Given the description of an element on the screen output the (x, y) to click on. 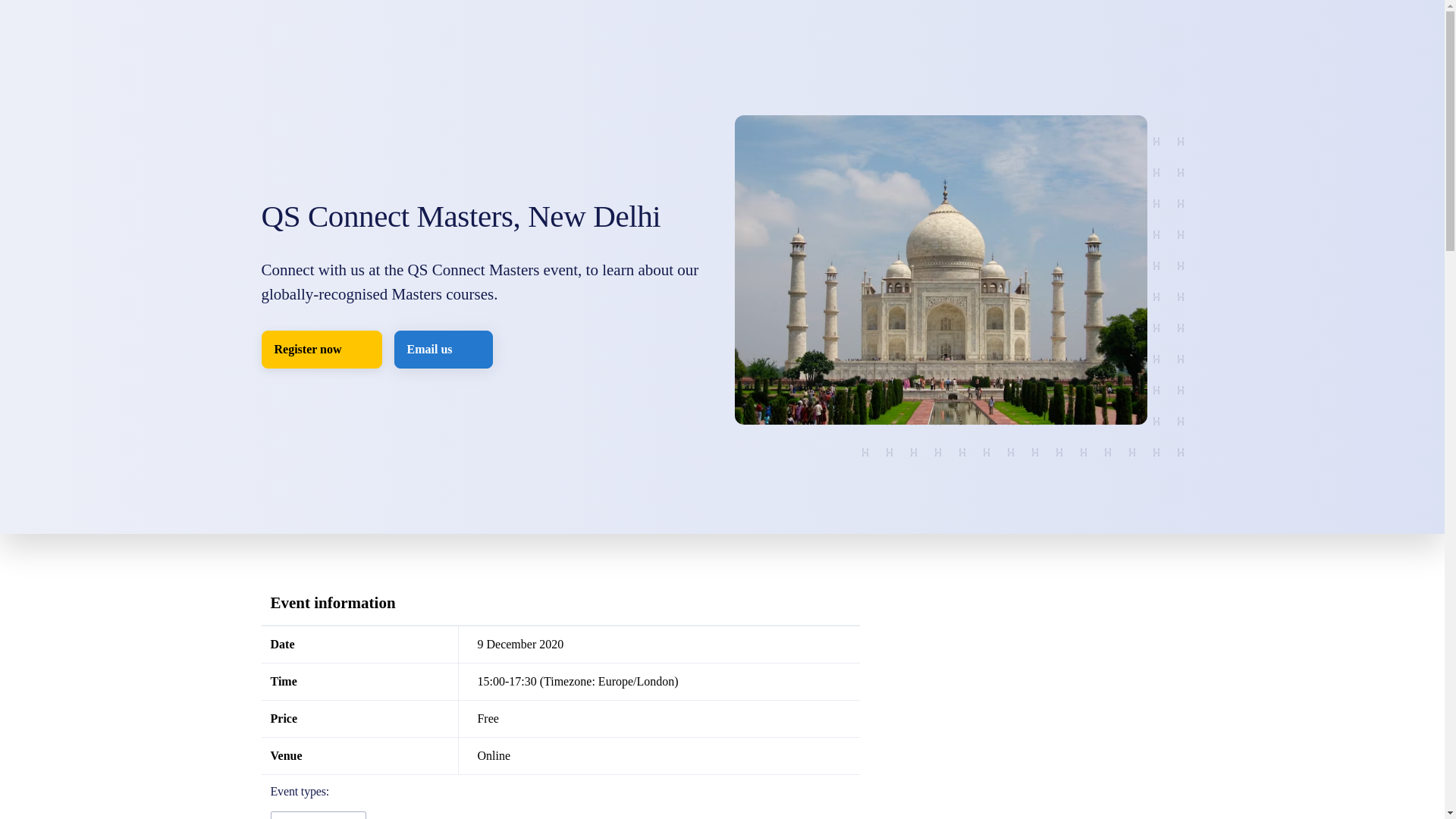
Register now (320, 349)
Fairs and exhibitions (317, 815)
Email us (443, 349)
